Given the description of an element on the screen output the (x, y) to click on. 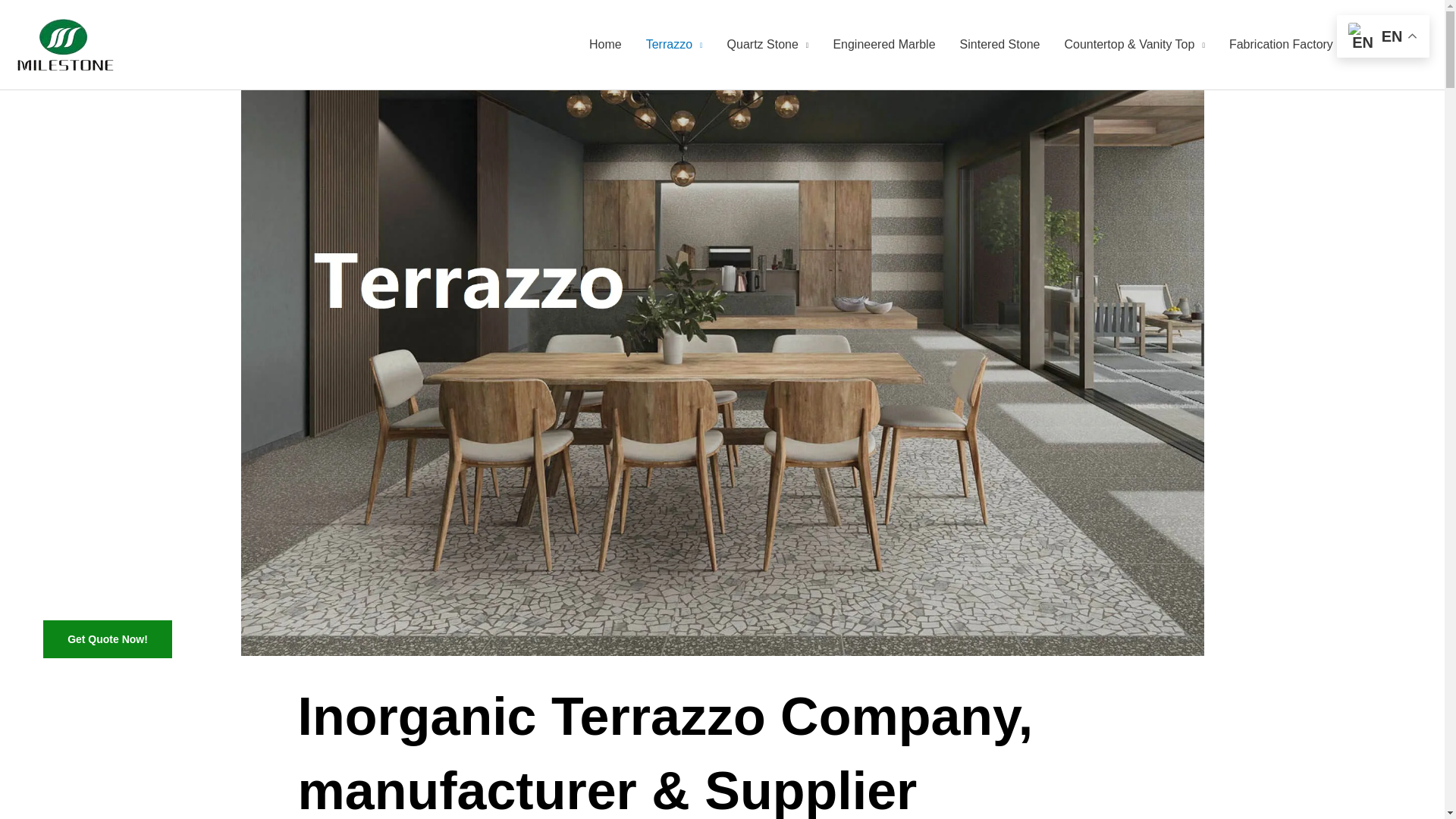
Contact Us (1387, 44)
Terrazzo (673, 44)
Sintered Stone (999, 44)
Get Quote Now! (107, 638)
Fabrication Factory (1281, 44)
Engineered Marble (884, 44)
Quartz Stone (767, 44)
